Given the description of an element on the screen output the (x, y) to click on. 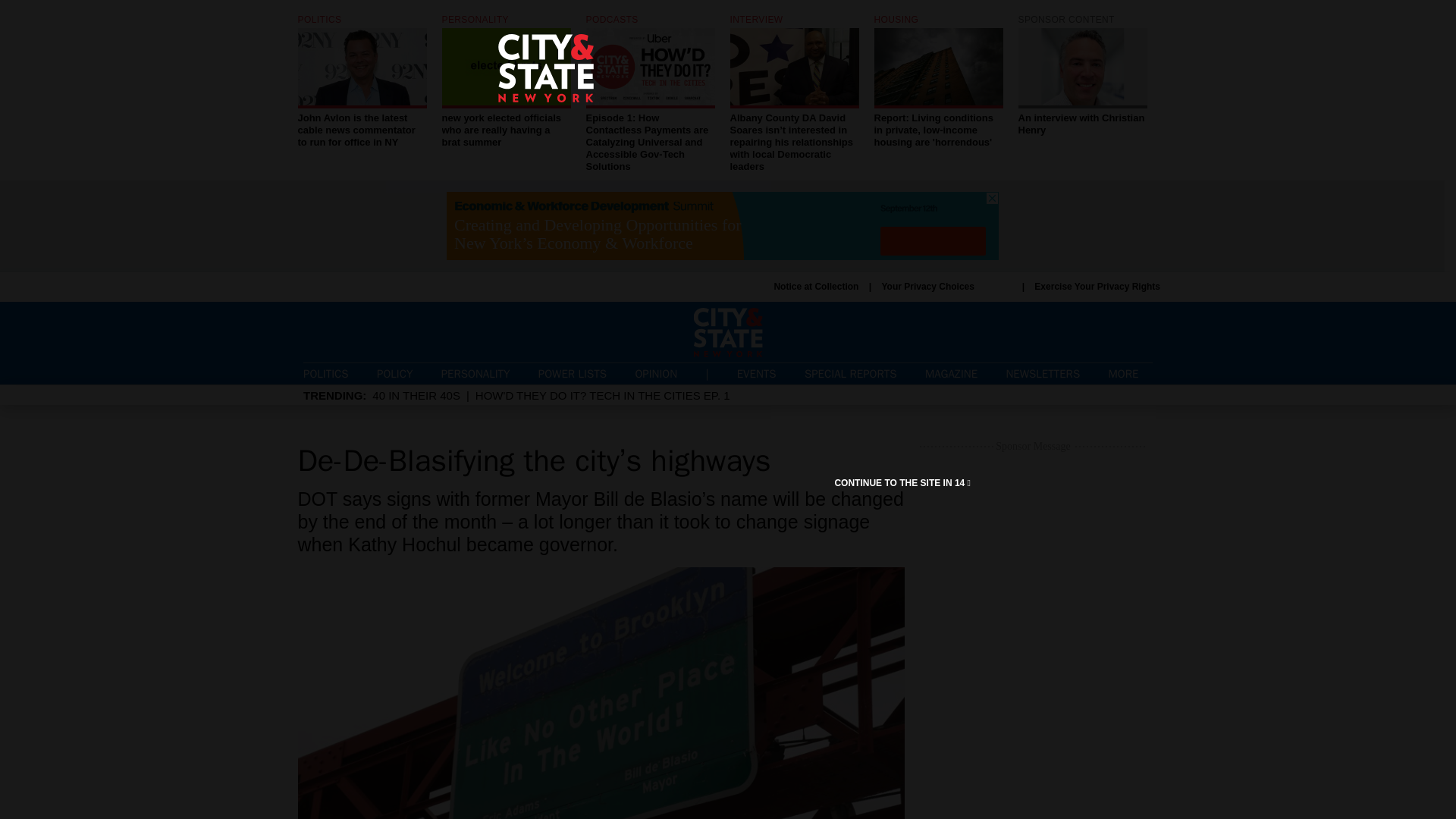
OPINION (655, 373)
PERSONALITY (476, 373)
POLITICS (325, 373)
NEWSLETTERS (1043, 373)
Exercise Your Privacy Rights (1096, 286)
Notice at Collection (816, 286)
EVENTS (756, 373)
CONTINUE TO THE SITE IN 14 (902, 482)
SPECIAL REPORTS (850, 373)
MAGAZINE (950, 373)
POLICY (394, 373)
Your Privacy Choices (945, 287)
